Given the description of an element on the screen output the (x, y) to click on. 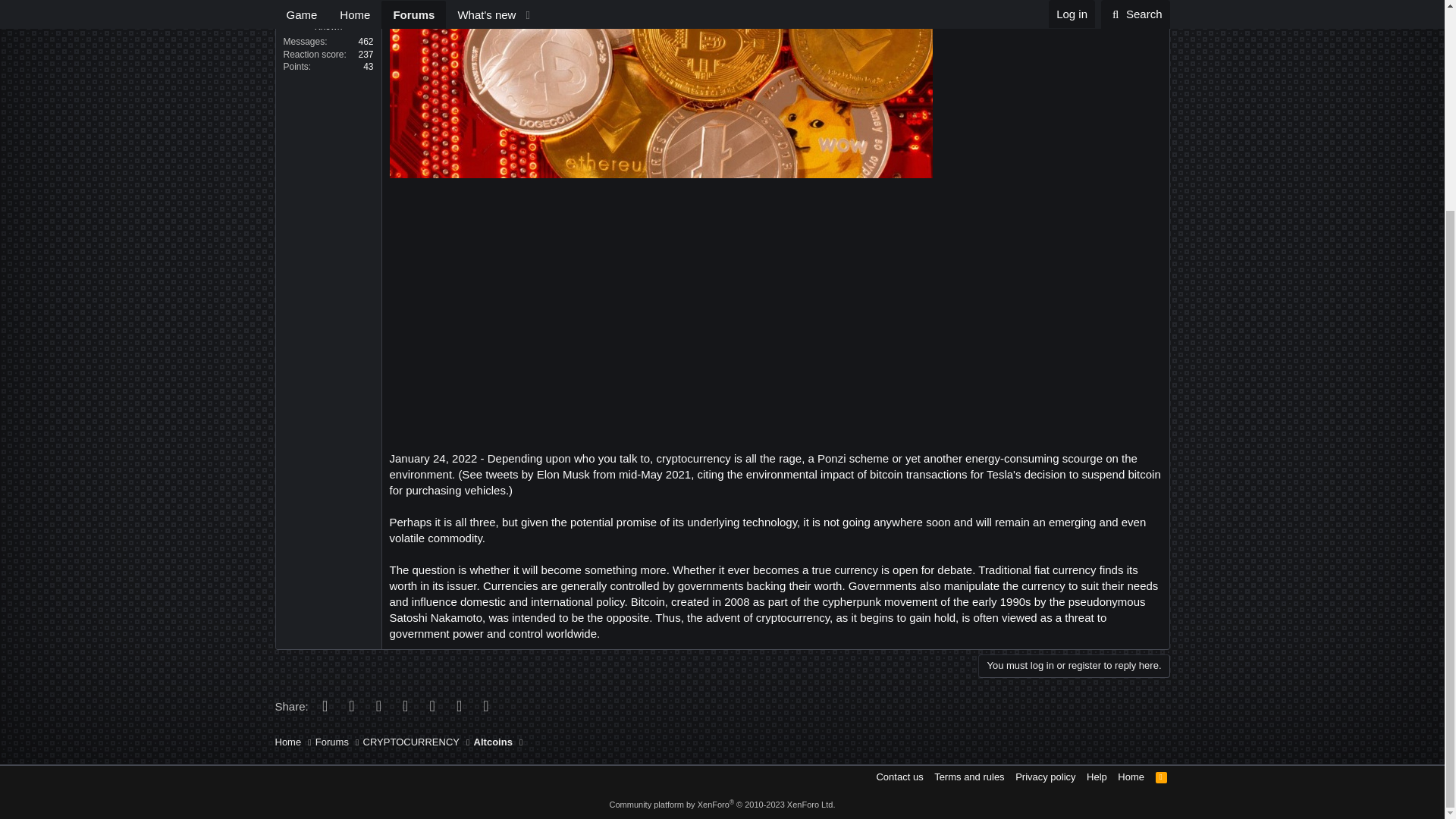
Twitter (350, 705)
Reddit (377, 705)
You must log in or register to reply here. (1073, 665)
Facebook (324, 705)
Tumblr (430, 705)
Angelic9 (328, 11)
Pinterest (404, 705)
RSS (1161, 776)
